Given the description of an element on the screen output the (x, y) to click on. 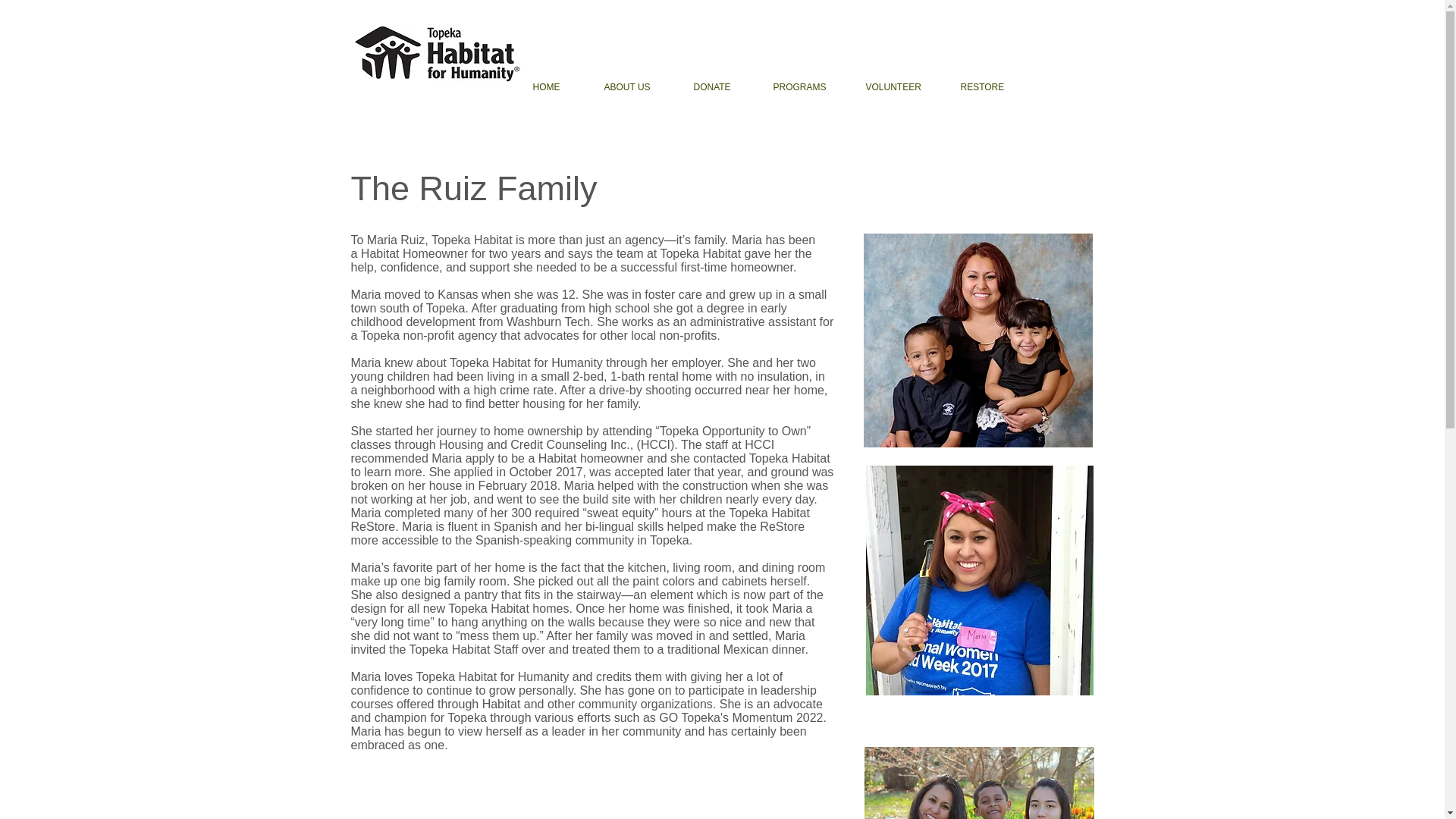
RESTORE (989, 87)
HOME (556, 87)
